Given the description of an element on the screen output the (x, y) to click on. 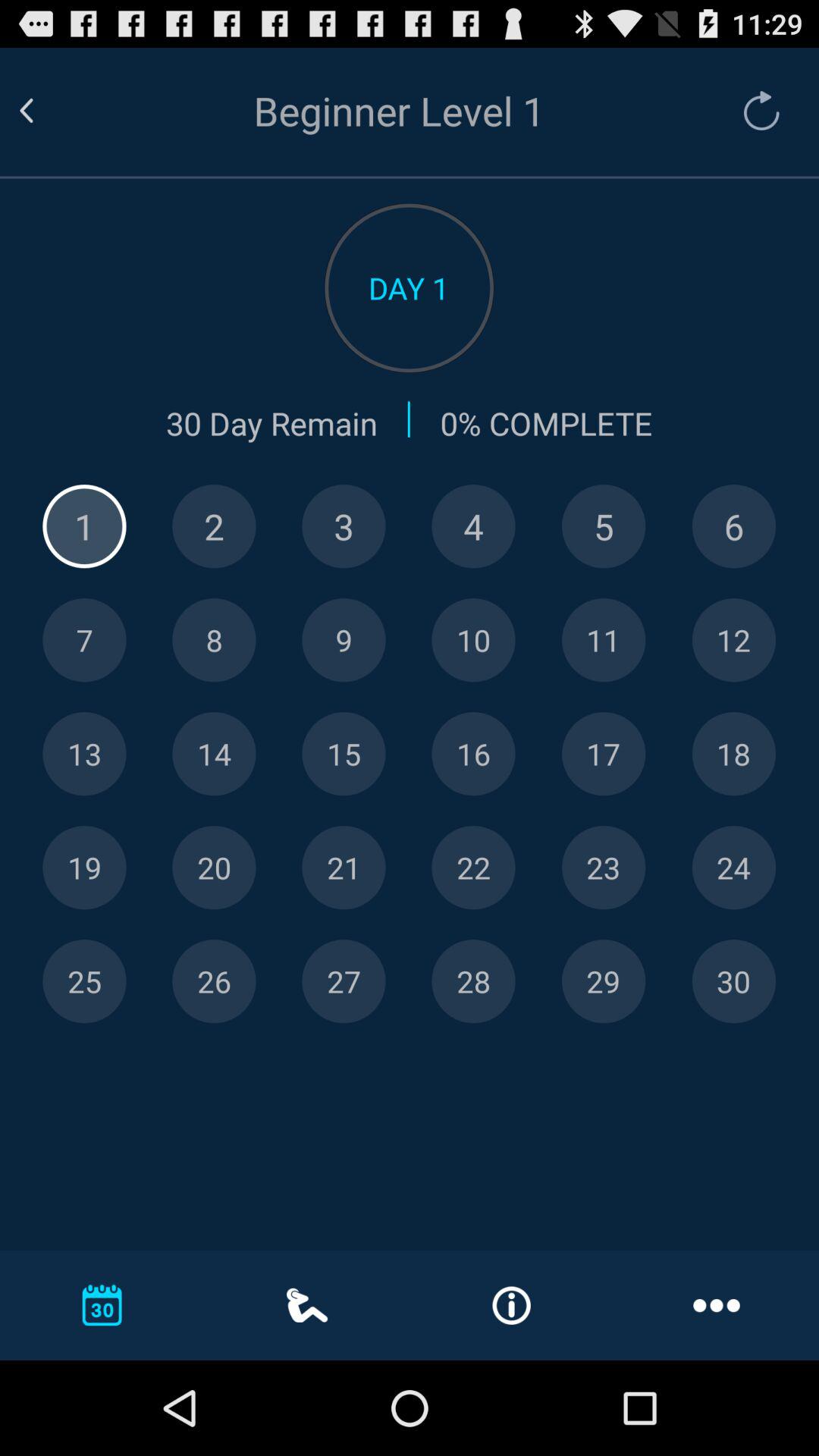
go to keyboard (473, 981)
